Given the description of an element on the screen output the (x, y) to click on. 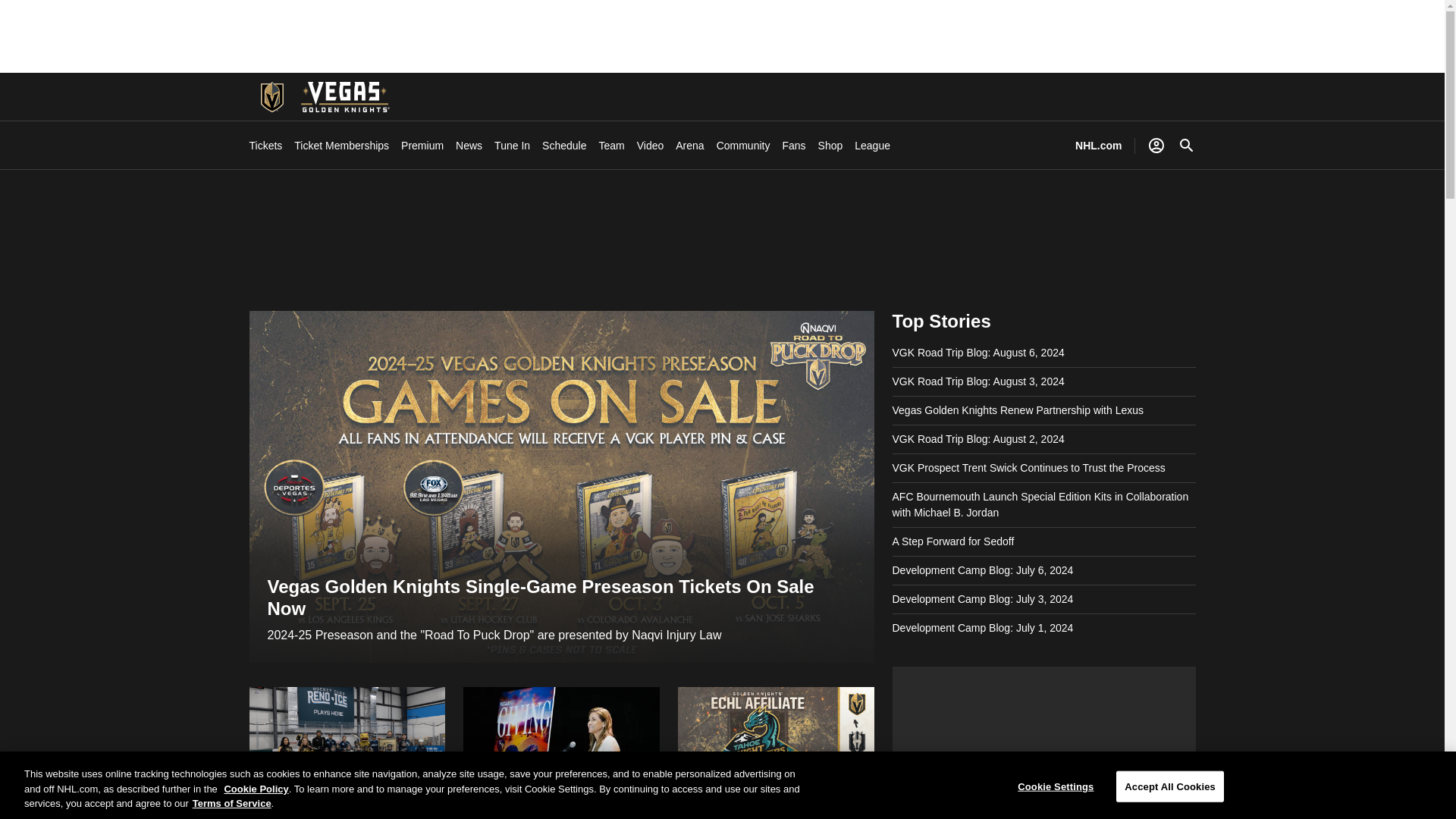
Tune In (512, 145)
Arena (689, 145)
Go to Vegas Golden Knights Homepage (344, 96)
VGK Road Trip Blog: August 2, 2024 (977, 439)
Schedule (563, 145)
NHL.com (1098, 145)
League (871, 145)
Community (743, 145)
Shop (830, 145)
Search (1185, 145)
